Given the description of an element on the screen output the (x, y) to click on. 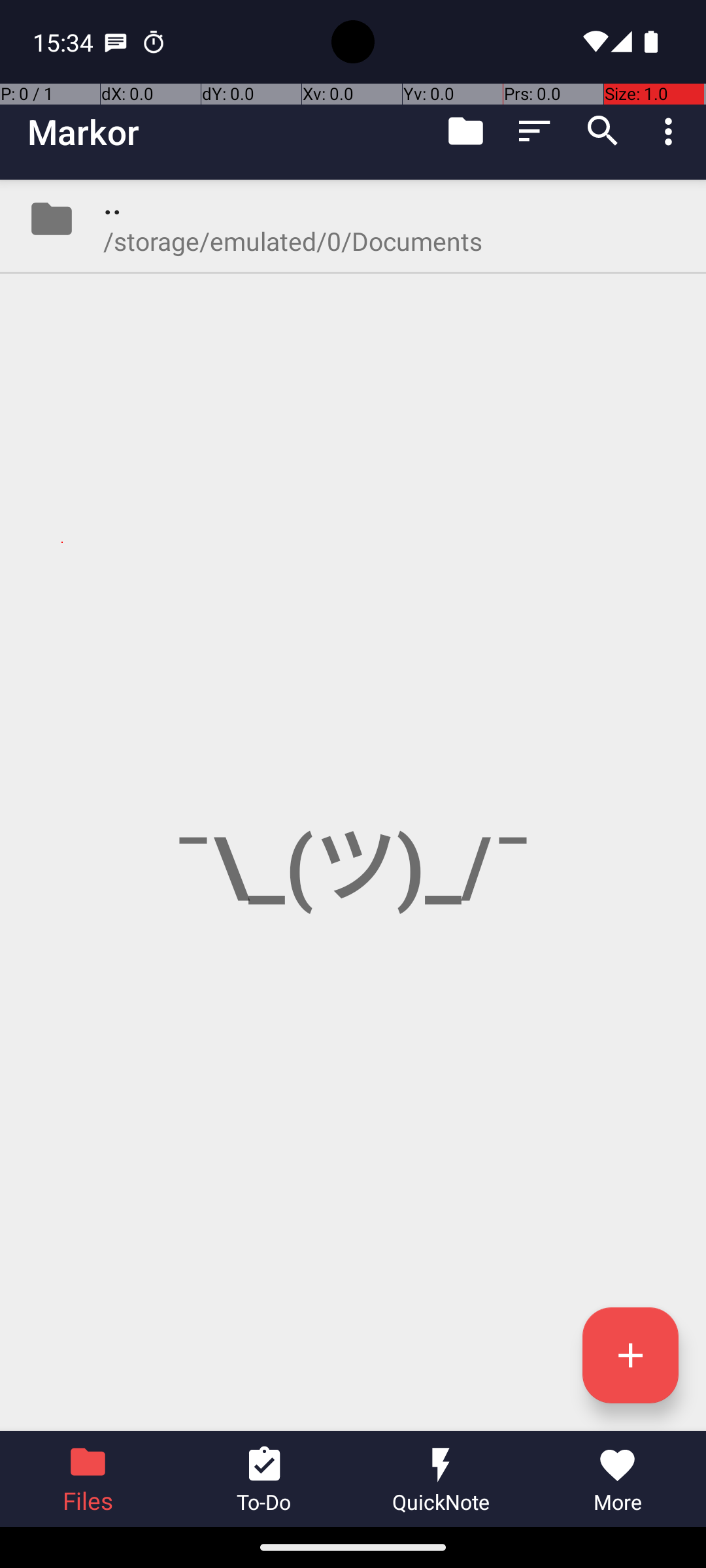
SMS Messenger notification: Emily Ibrahim Element type: android.widget.ImageView (115, 41)
